Given the description of an element on the screen output the (x, y) to click on. 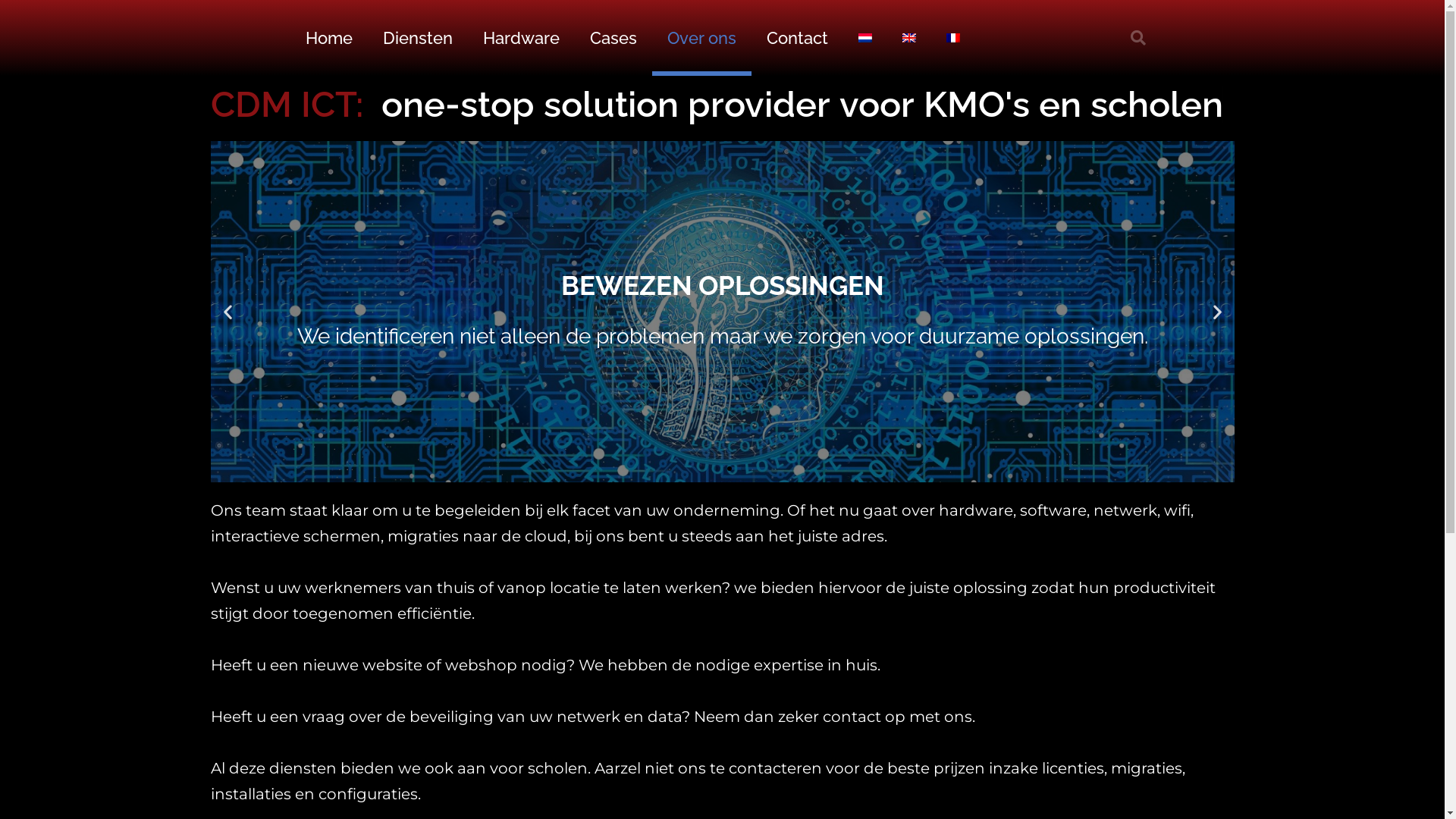
Diensten Element type: text (417, 37)
Cases Element type: text (613, 37)
Over ons Element type: text (701, 37)
Home Element type: text (328, 37)
Contact Element type: text (796, 37)
Hardware Element type: text (520, 37)
